Given the description of an element on the screen output the (x, y) to click on. 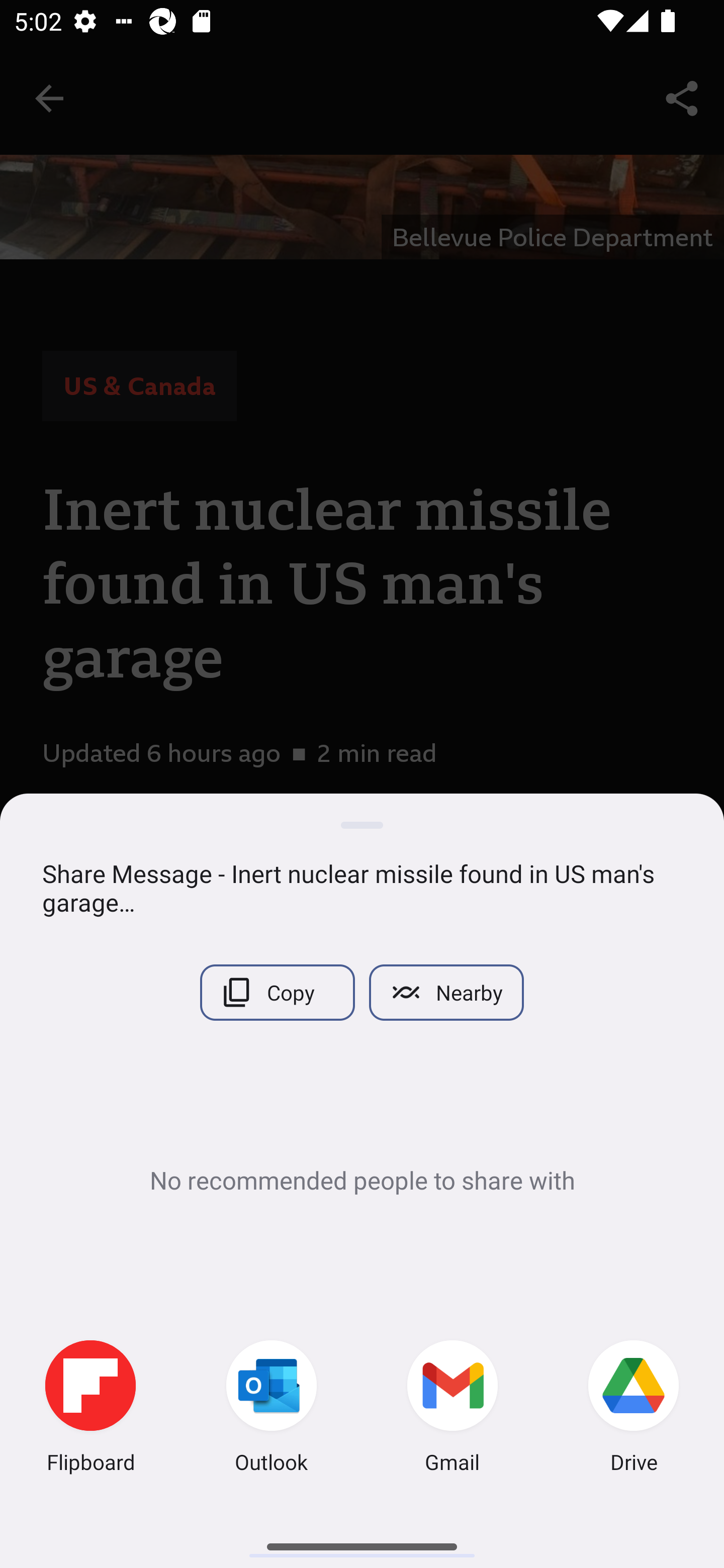
Copy (276, 992)
Nearby (446, 992)
Flipboard (90, 1409)
Outlook (271, 1409)
Gmail (452, 1409)
Drive (633, 1409)
